Given the description of an element on the screen output the (x, y) to click on. 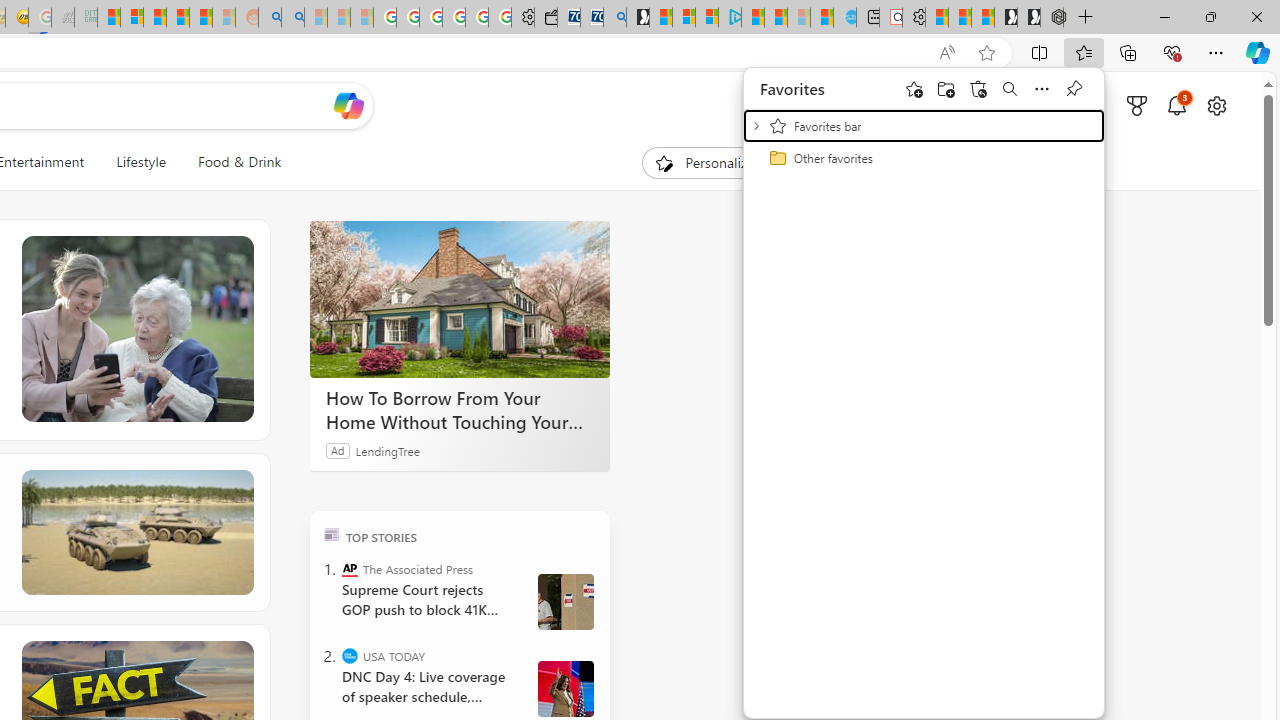
Pin favorites (1073, 88)
